Given the description of an element on the screen output the (x, y) to click on. 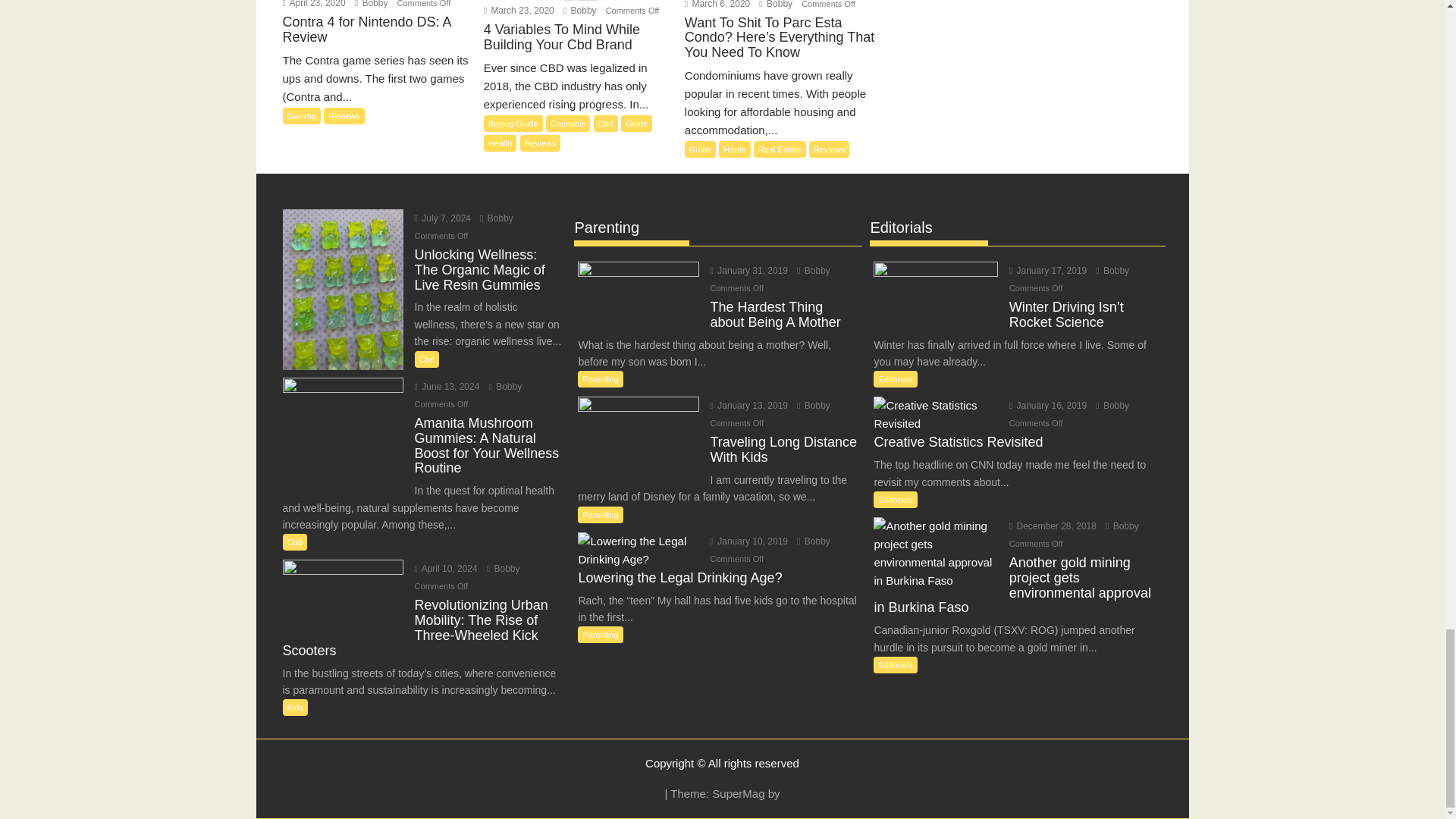
Bobby (579, 9)
Bobby (496, 217)
Bobby (504, 386)
Bobby (812, 270)
April 23, 2020 (313, 4)
Bobby (371, 4)
Bobby (502, 568)
Bobby (775, 4)
